Given the description of an element on the screen output the (x, y) to click on. 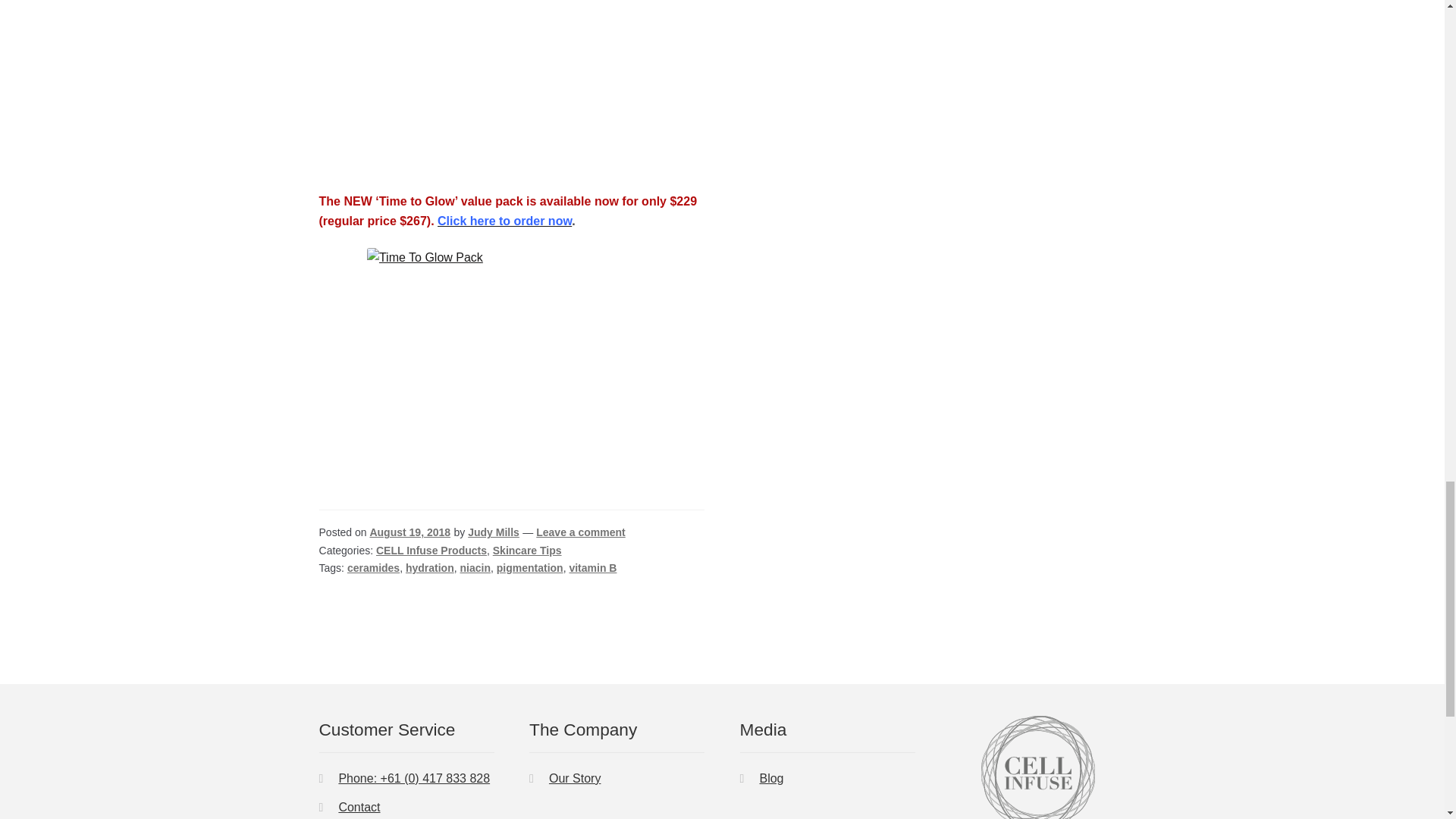
Leave a comment (580, 532)
August 19, 2018 (409, 532)
niacin (474, 567)
Our Story (573, 778)
CELL Infuse Products (430, 550)
Contact (358, 807)
Skincare Tips (527, 550)
hydration (430, 567)
Blog (770, 778)
Click here to order now (505, 220)
pigmentation (529, 567)
vitamin B (592, 567)
Judy Mills (493, 532)
ceramides (372, 567)
